Given the description of an element on the screen output the (x, y) to click on. 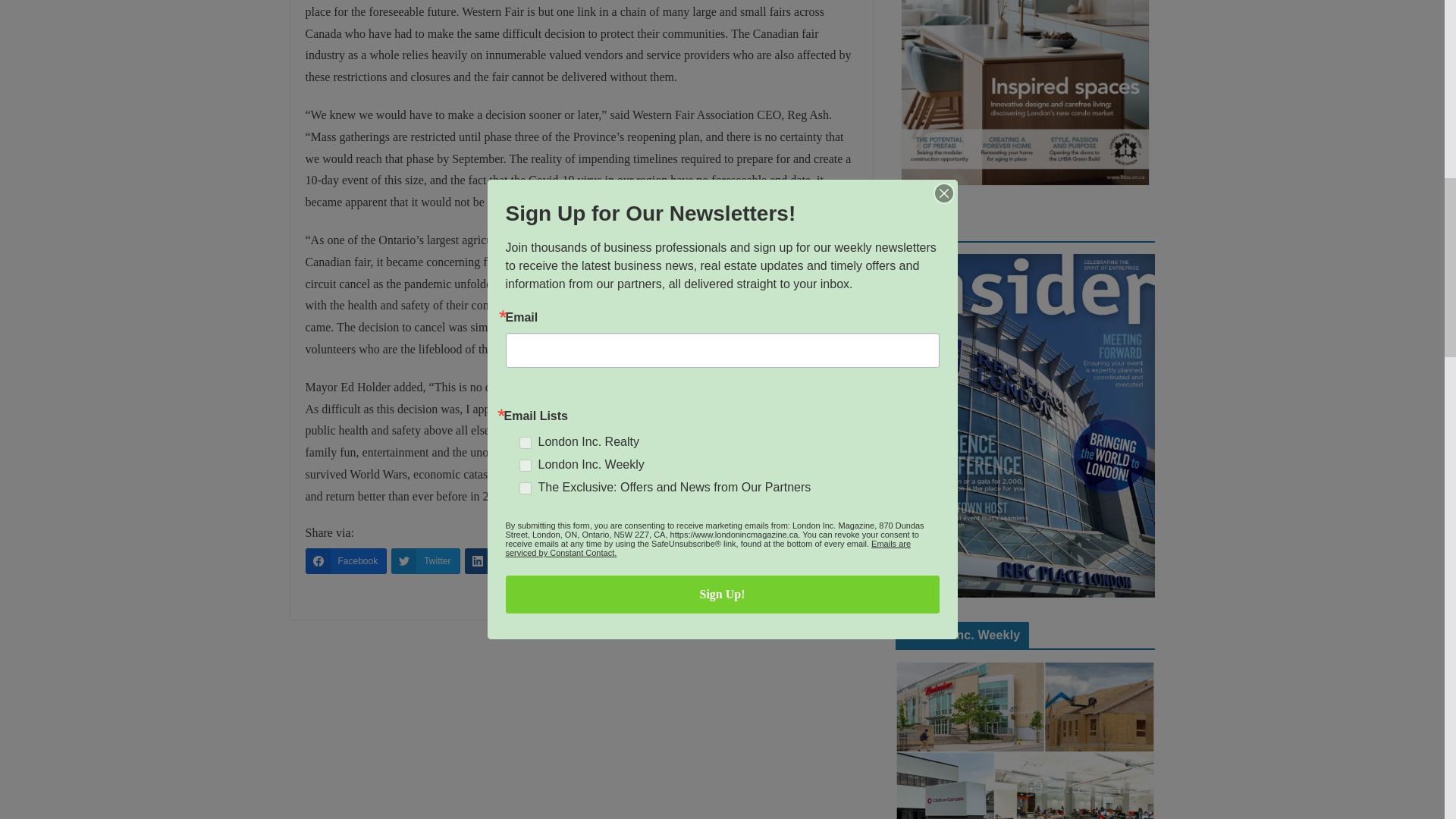
Print (644, 560)
Facebook (345, 560)
LinkedIn (502, 560)
Email (577, 560)
Copy Link (720, 560)
Twitter (425, 560)
More (796, 560)
London Inc. Weekly (1024, 739)
